Given the description of an element on the screen output the (x, y) to click on. 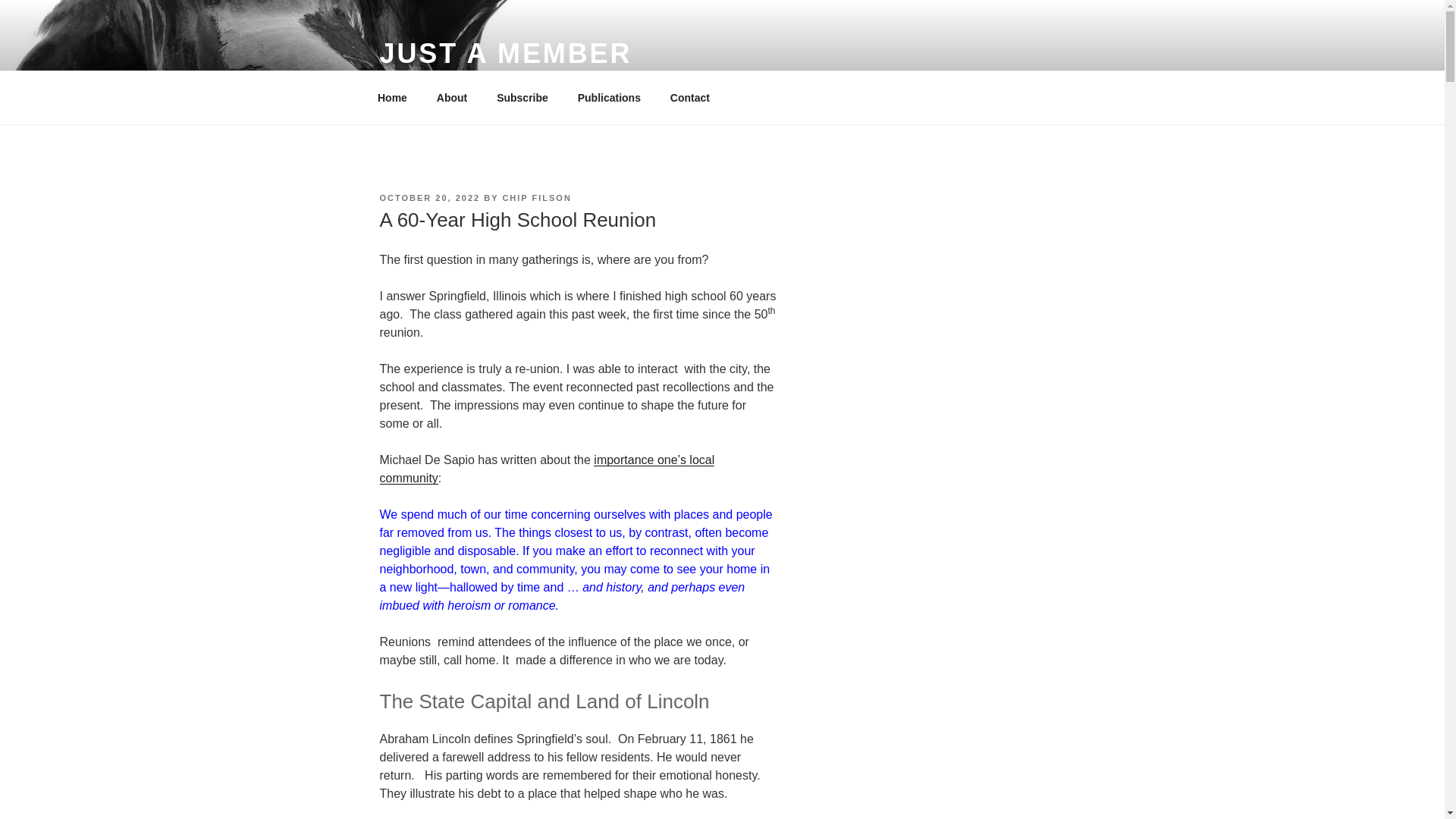
OCTOBER 20, 2022 (429, 197)
About (451, 97)
CHIP FILSON (536, 197)
Contact (689, 97)
Subscribe (522, 97)
Home (392, 97)
Publications (608, 97)
JUST A MEMBER (504, 52)
